Given the description of an element on the screen output the (x, y) to click on. 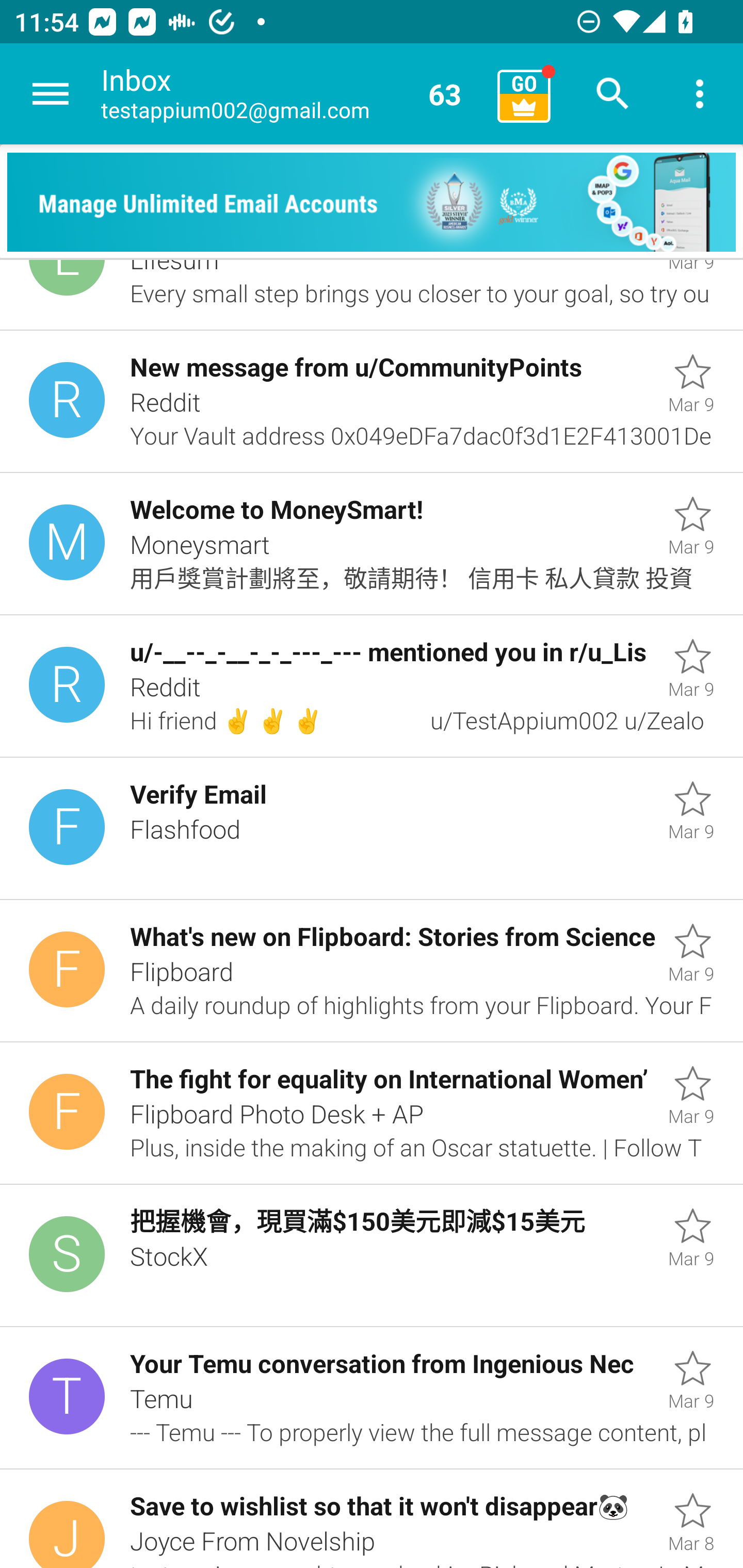
Navigate up (50, 93)
Inbox testappium002@gmail.com 63 (291, 93)
Search (612, 93)
More options (699, 93)
Unread, Verify Email, Flashfood, Mar 9 (371, 828)
Unread, 把握機會，現買滿$150美元即減$15美元, StockX, Mar 9 (371, 1255)
